Given the description of an element on the screen output the (x, y) to click on. 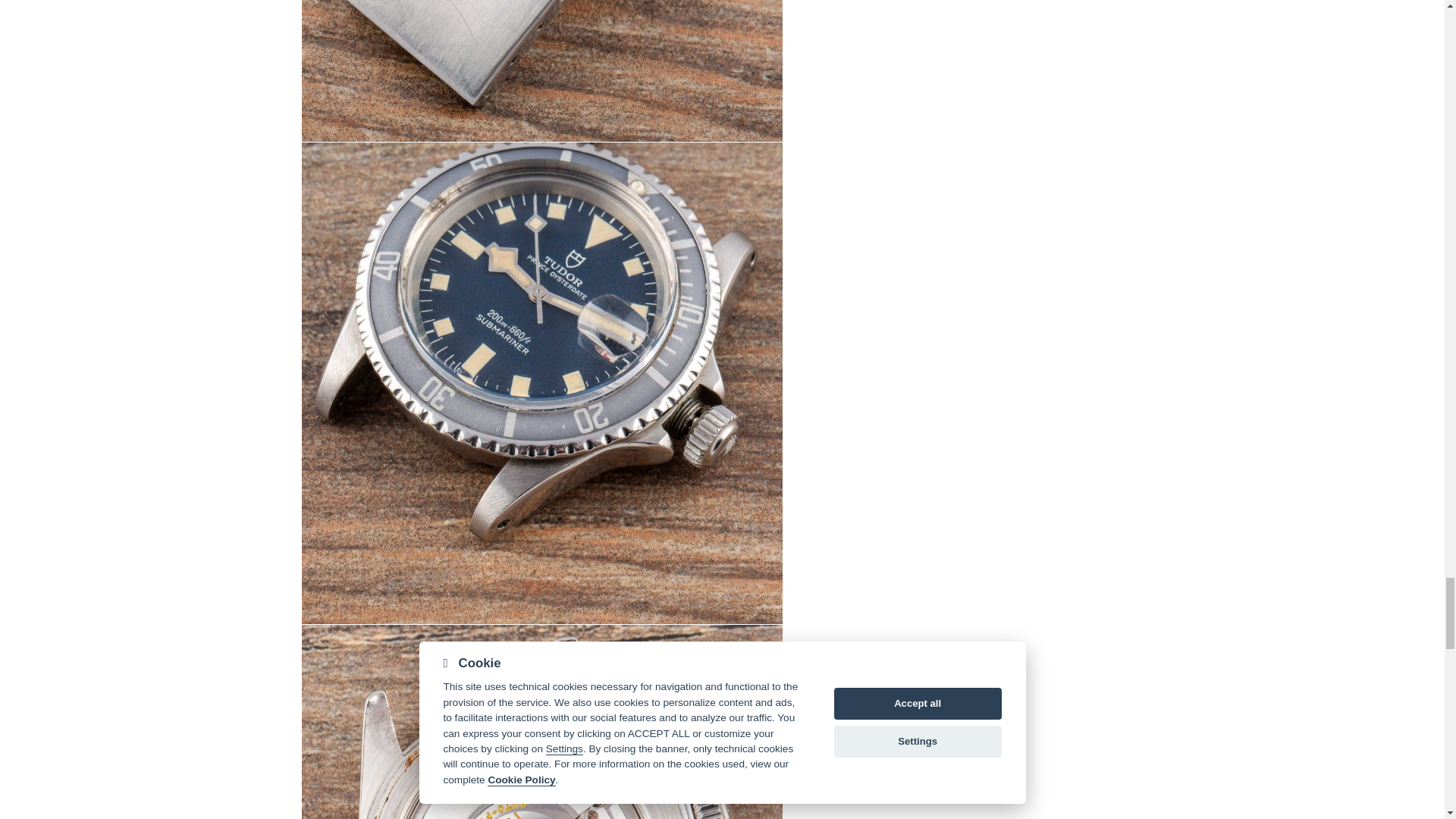
Tudor SUBMARINER DATE SNOWFLAKE REF. 7021 (542, 70)
Tudor SUBMARINER DATE SNOWFLAKE REF. 7021 (542, 721)
